Given the description of an element on the screen output the (x, y) to click on. 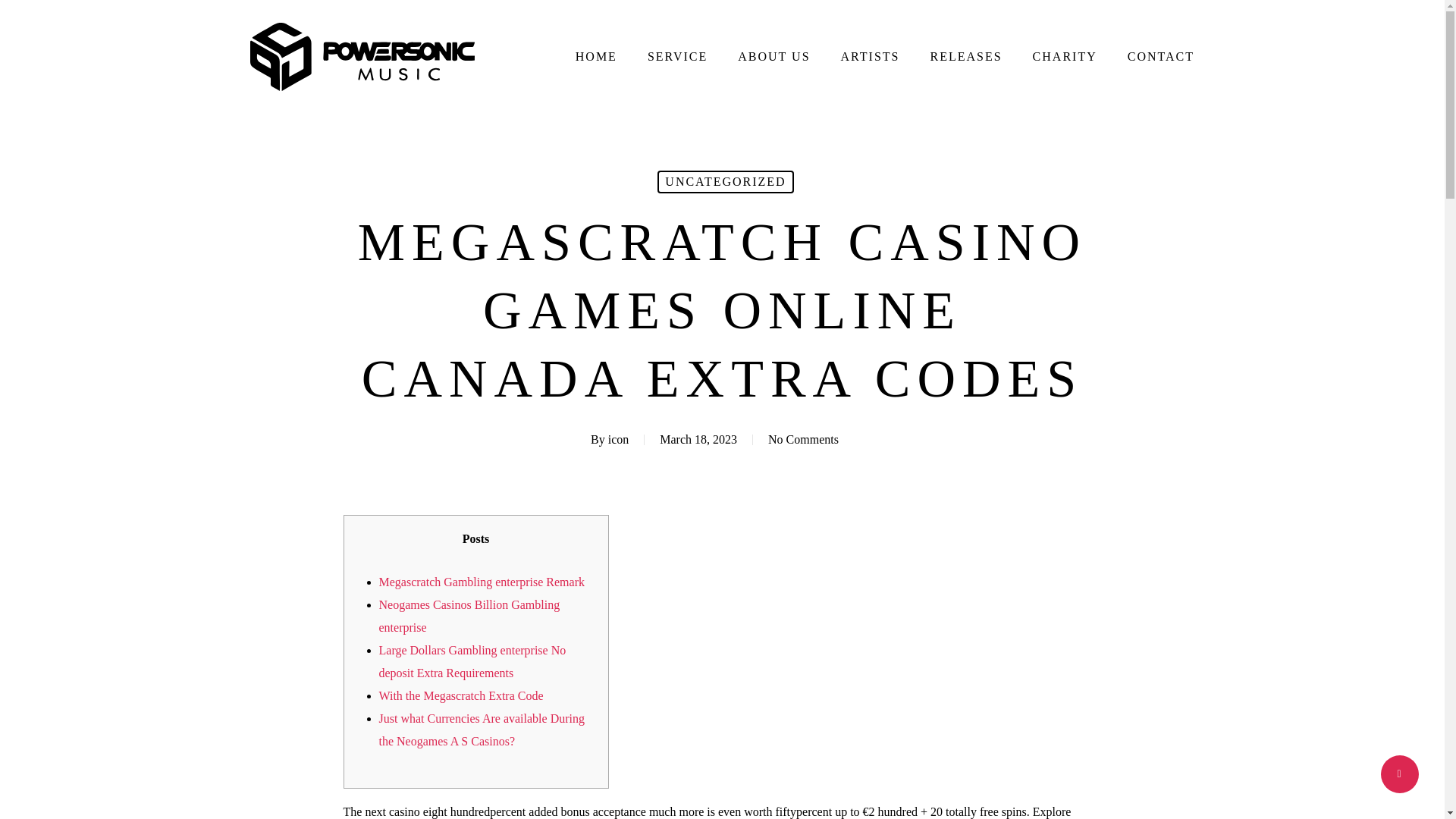
SERVICE (677, 56)
No Comments (803, 439)
Facebook (73, 709)
HOME (596, 56)
Posts by icon (618, 439)
CHARITY (1064, 56)
UNCATEGORIZED (725, 181)
Instagram (137, 711)
RELEASES (965, 56)
Artists (467, 670)
Subscribe (1139, 590)
About us (473, 625)
ABOUT US (773, 56)
Releases (472, 716)
